Given the description of an element on the screen output the (x, y) to click on. 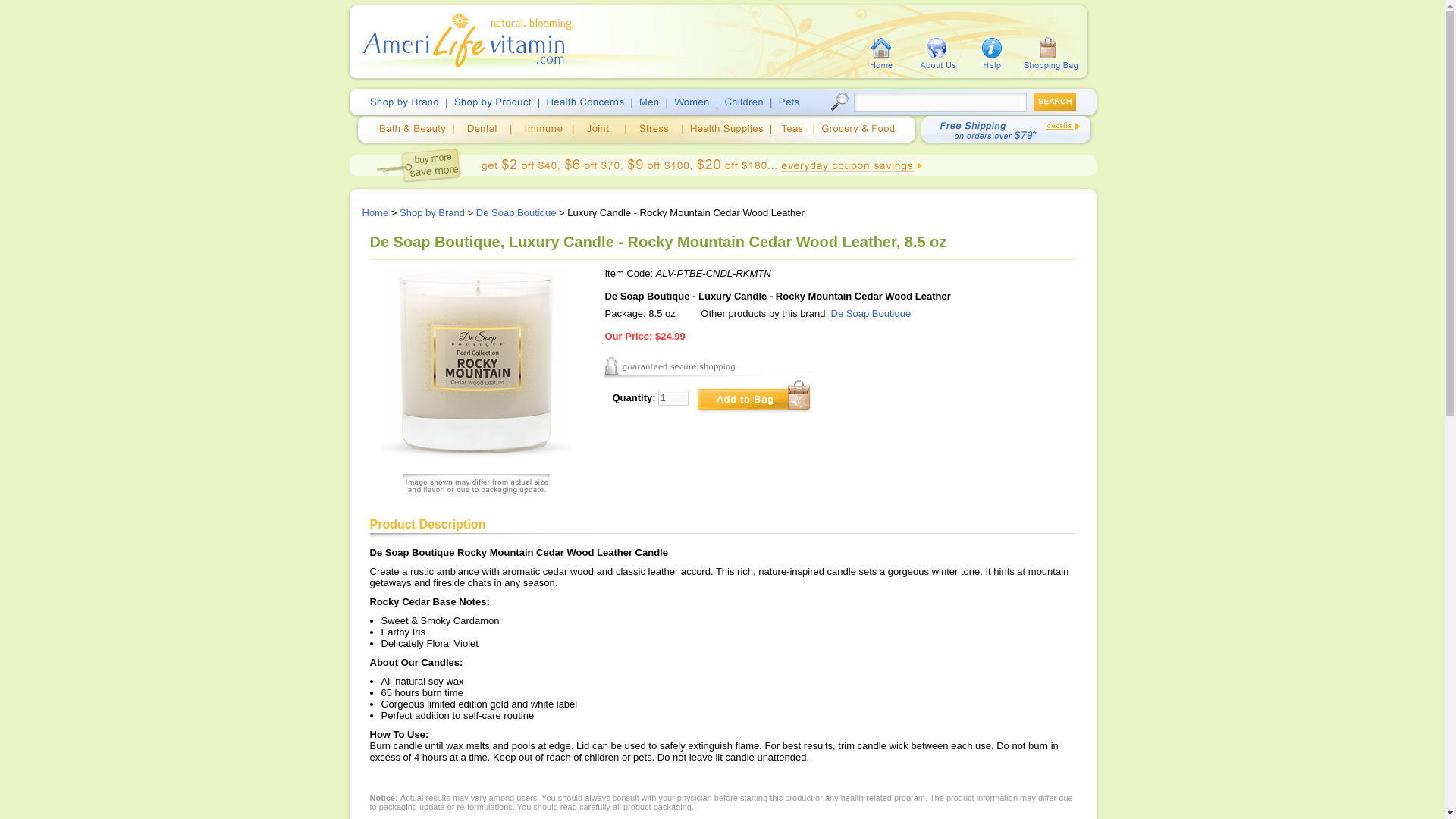
De Soap Boutique (871, 313)
1 (673, 397)
De Soap Boutique (516, 212)
Shop by Brand (431, 212)
Home (375, 212)
Add to Bag (752, 395)
